Given the description of an element on the screen output the (x, y) to click on. 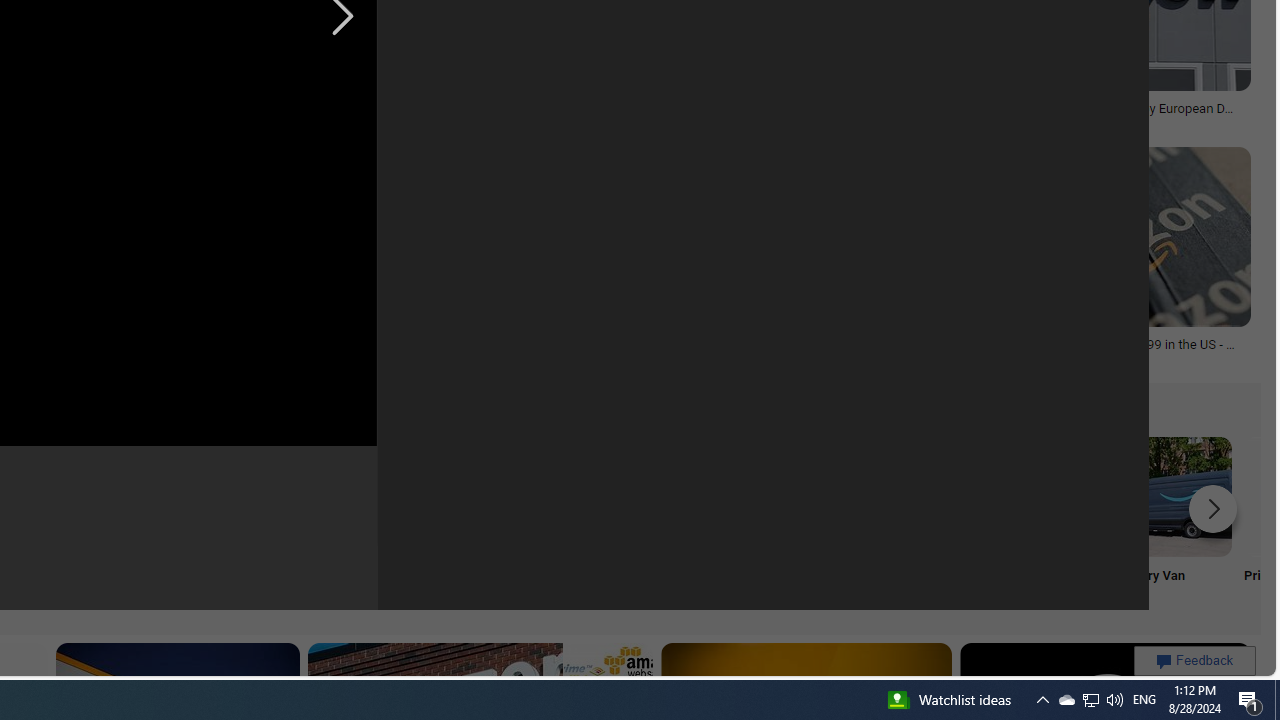
Amazon Sale Items (775, 496)
olhardigital.com.br (167, 359)
amazon.com.mx (776, 359)
Amazon Prime Label (511, 496)
Best Amazon Cyber Monday deals 2019 | PCWorld (320, 114)
theverge.com (1098, 359)
Amazon Mini TV Mini TV (116, 521)
Scroll more suggestions right (1213, 508)
Prime Shopping Online (380, 521)
